Given the description of an element on the screen output the (x, y) to click on. 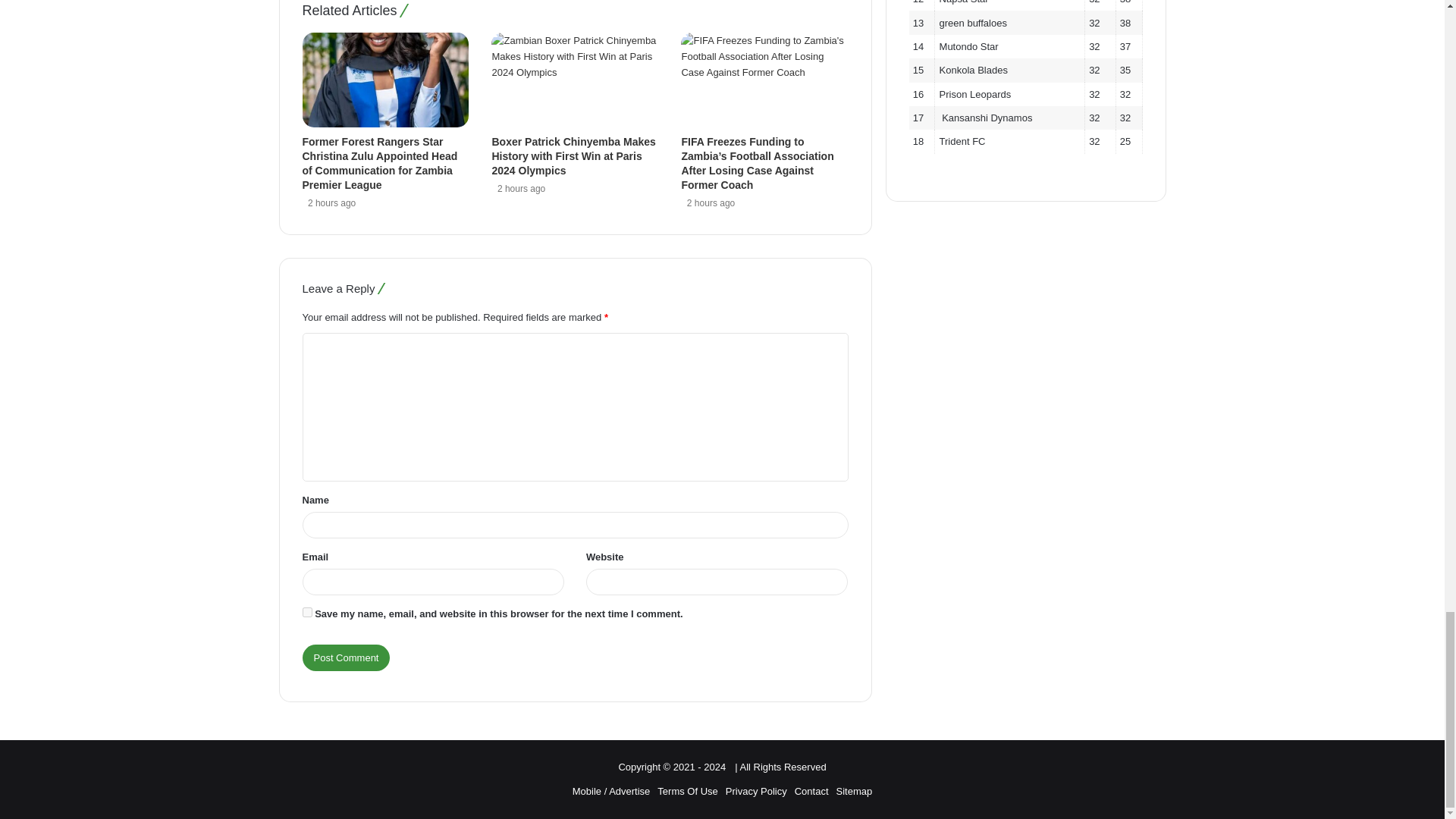
Post Comment (345, 657)
yes (306, 612)
